Given the description of an element on the screen output the (x, y) to click on. 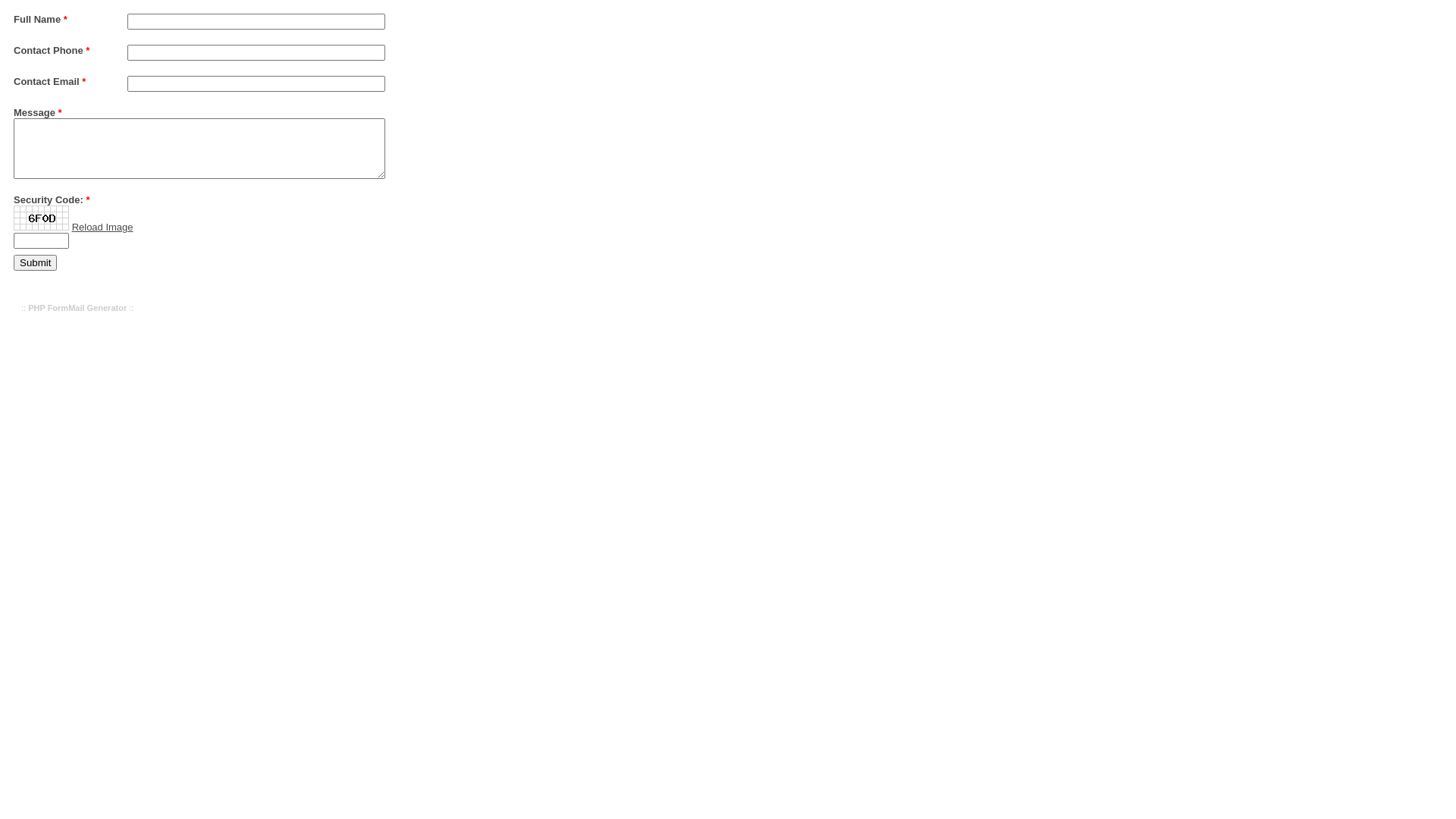
PHP FormMail Generator Element type: text (77, 307)
Submit Element type: text (34, 262)
Reload Image Element type: text (102, 226)
